Given the description of an element on the screen output the (x, y) to click on. 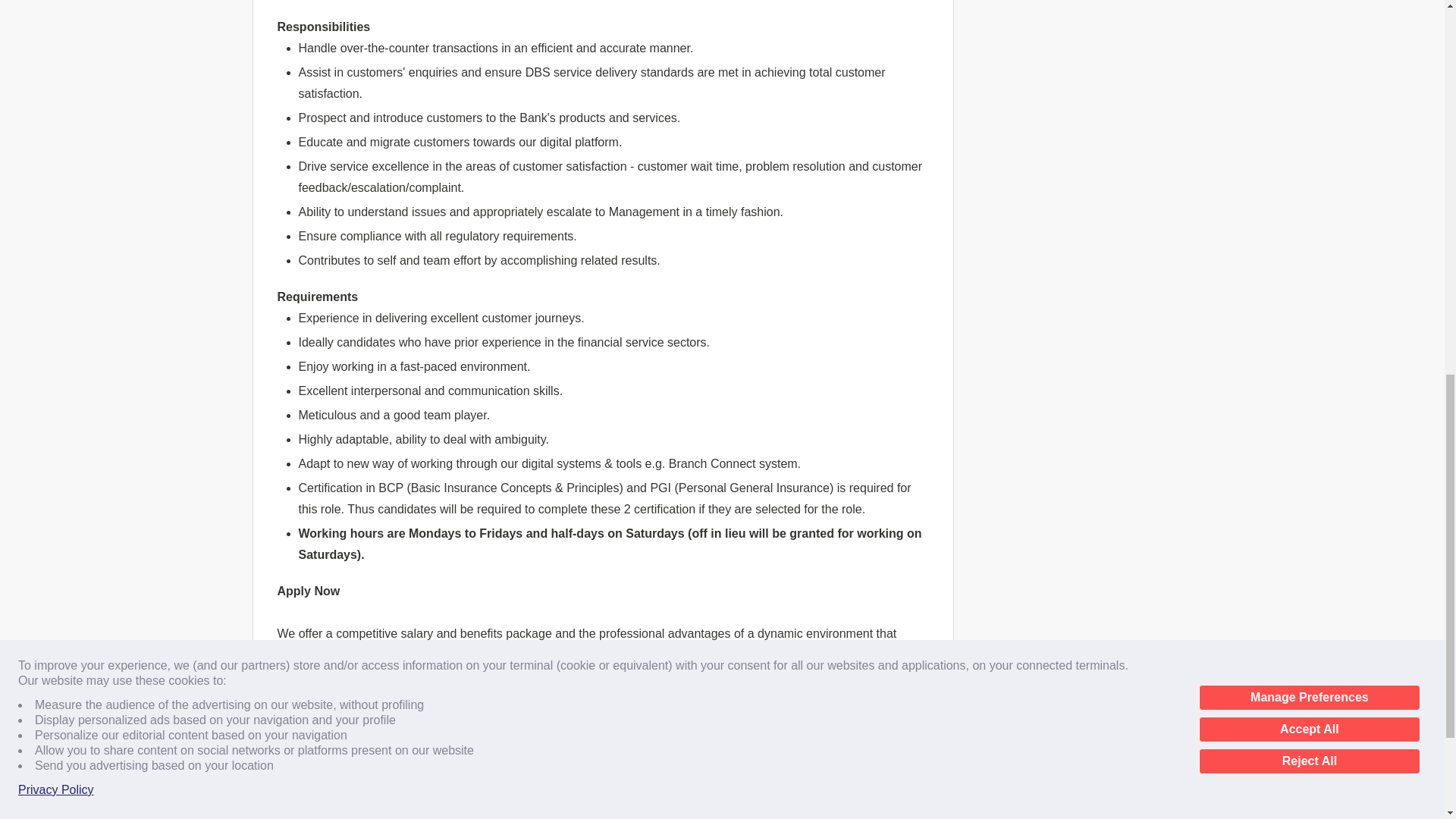
LinkedIn (397, 721)
Twitter (378, 721)
Facebook (360, 721)
